Given the description of an element on the screen output the (x, y) to click on. 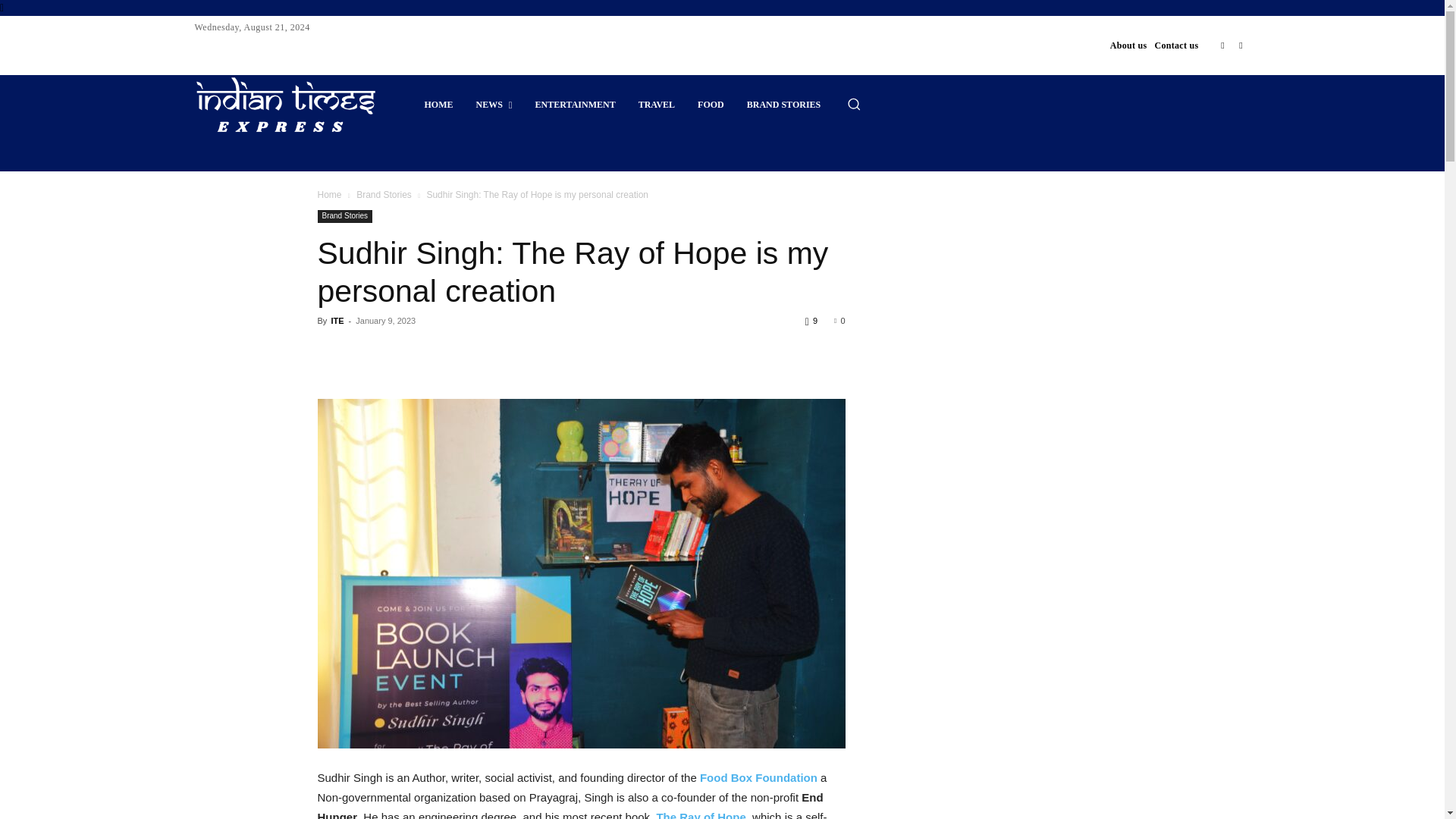
HOME (438, 104)
Contact us (1176, 45)
Instagram (1240, 45)
About us (1128, 45)
Facebook (1221, 45)
NEWS (493, 104)
ENTERTAINMENT (575, 104)
TRAVEL (656, 104)
